Given the description of an element on the screen output the (x, y) to click on. 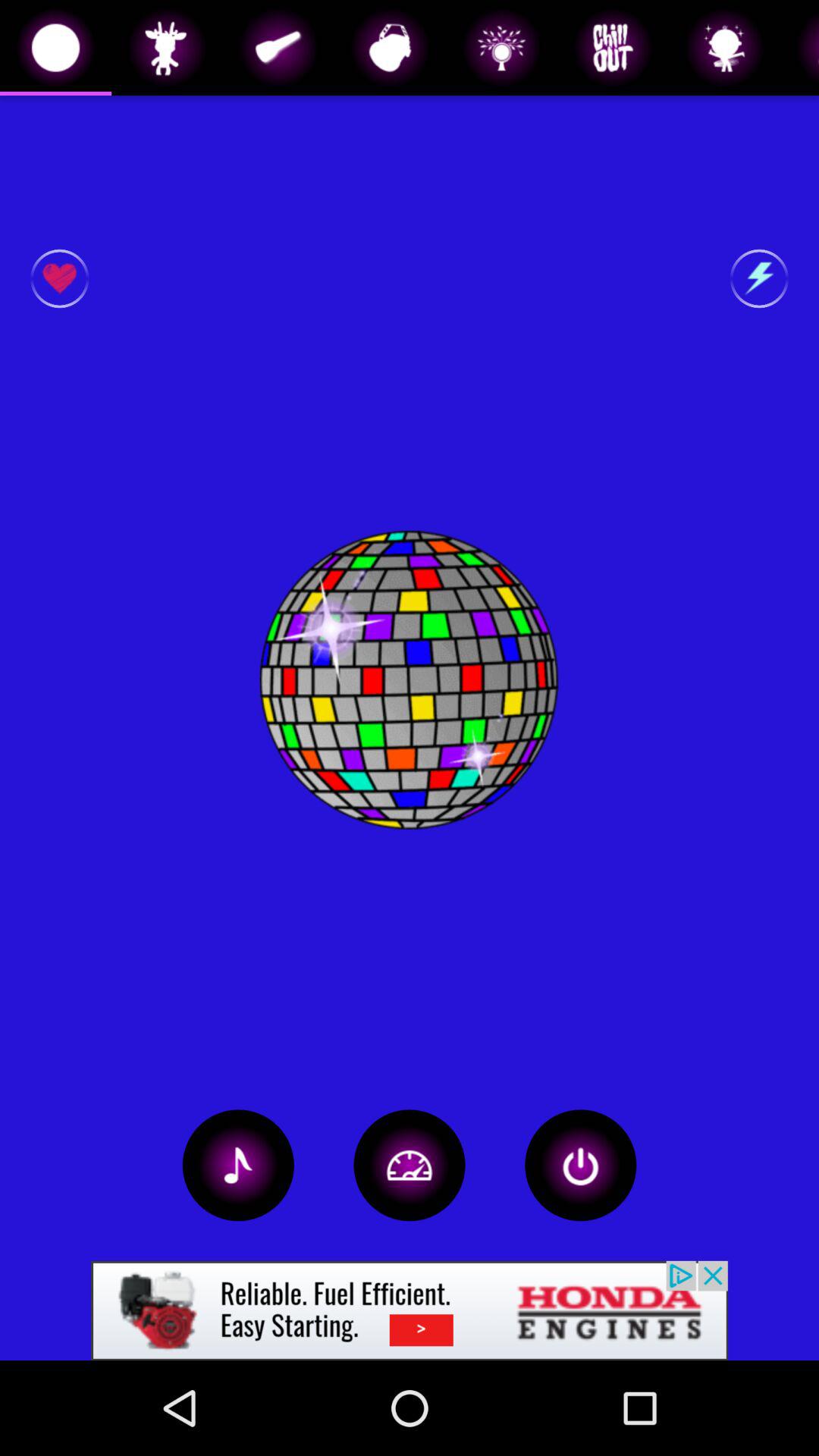
turn off/on option (580, 1165)
